Given the description of an element on the screen output the (x, y) to click on. 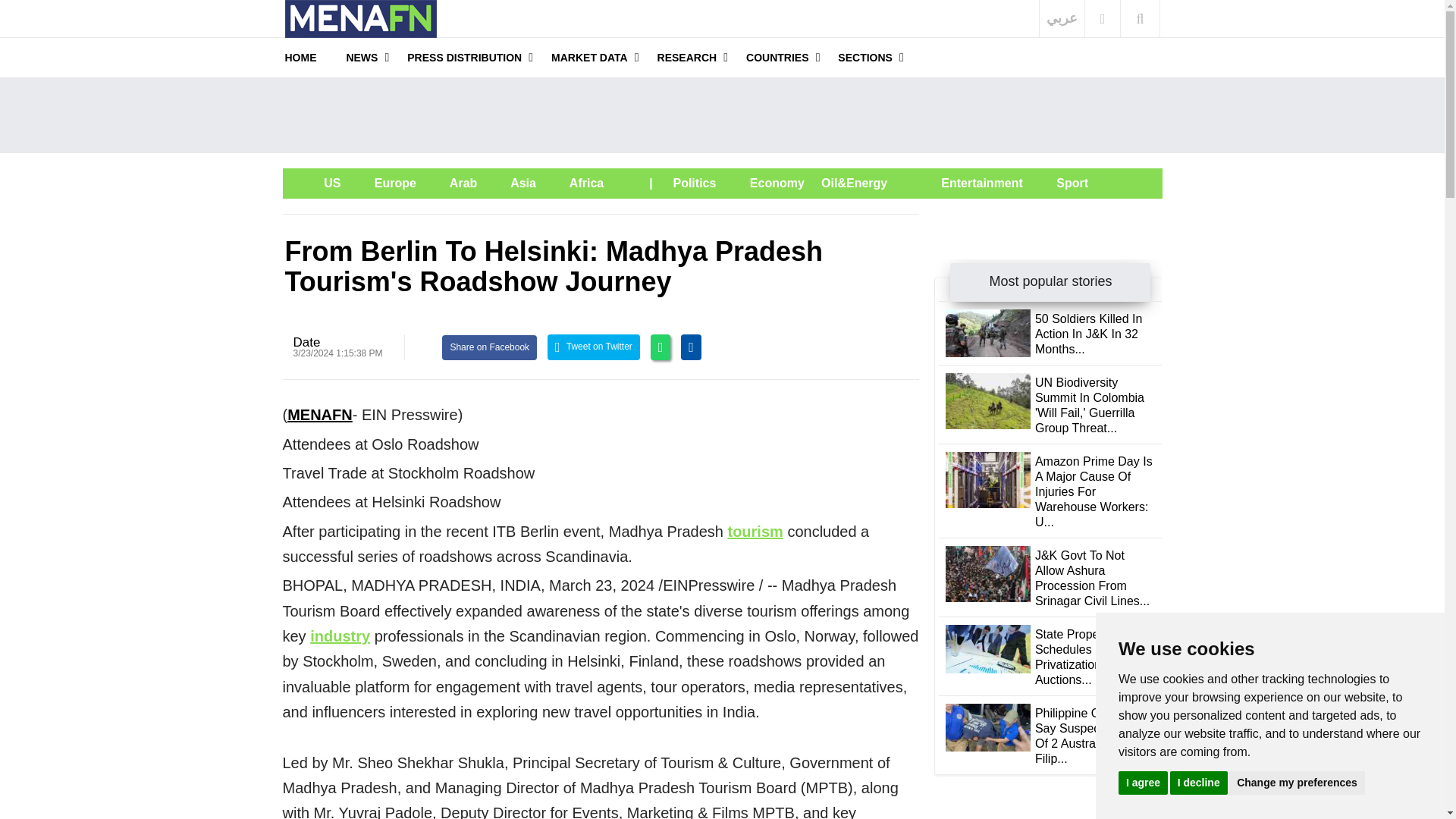
I decline (1198, 781)
NEWS (361, 56)
Advertisement (721, 115)
Change my preferences (1296, 781)
PRESS DISTRIBUTION (464, 56)
MARKET DATA (589, 56)
Posts by NewEdge (306, 341)
HOME (301, 56)
Share on linkedin (691, 347)
I agree (1142, 781)
